Given the description of an element on the screen output the (x, y) to click on. 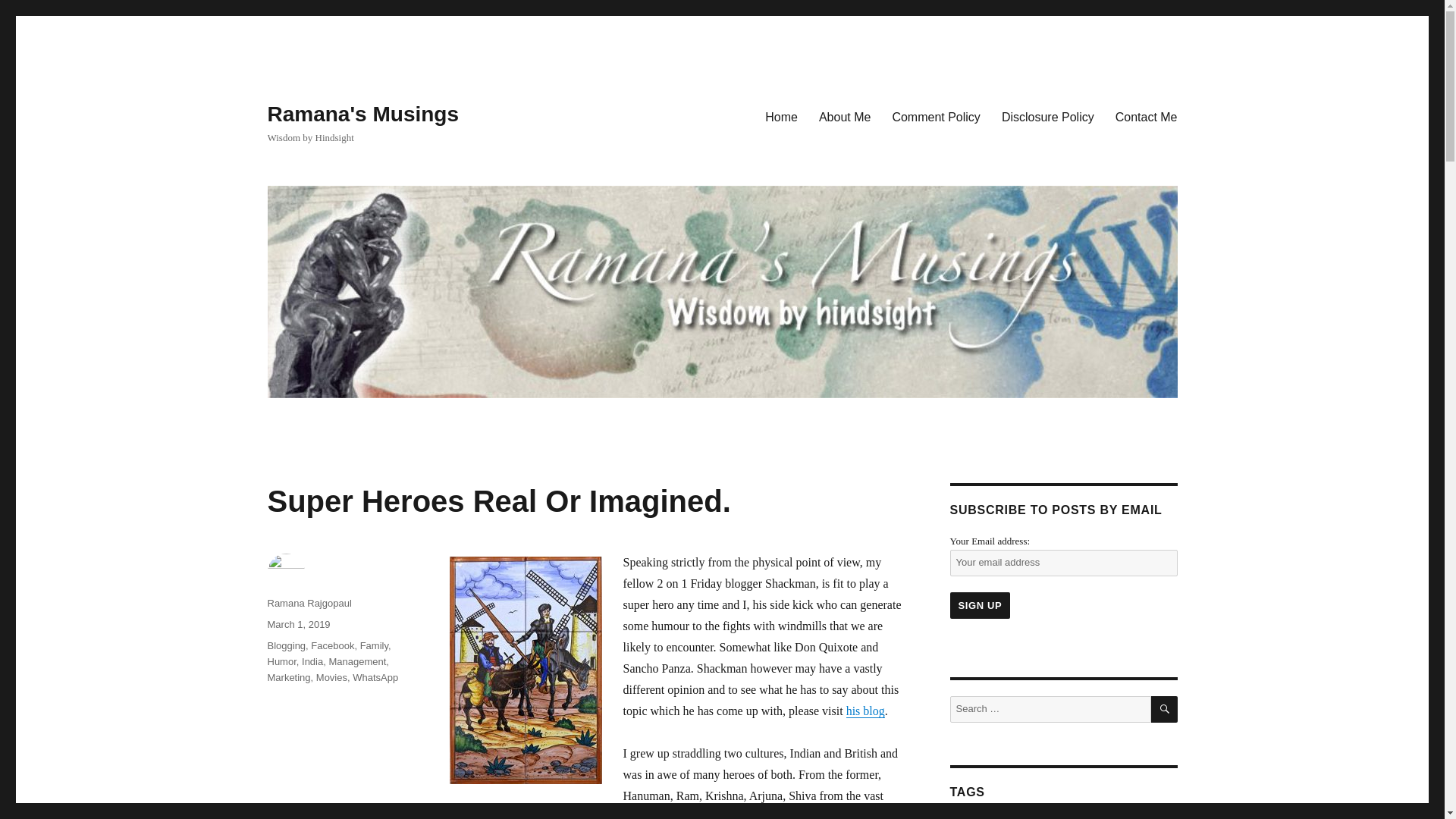
Home (781, 116)
Aging (967, 817)
March 1, 2019 (298, 624)
About Me (844, 116)
Ahmedabad (1019, 817)
Movies (331, 677)
SEARCH (1164, 709)
Management (357, 661)
Disclosure Policy (1048, 116)
his blog (865, 710)
Ajit Ninan (1080, 817)
India (312, 661)
Family (373, 645)
Ramana Rajgopaul (308, 603)
Sign up (979, 605)
